Given the description of an element on the screen output the (x, y) to click on. 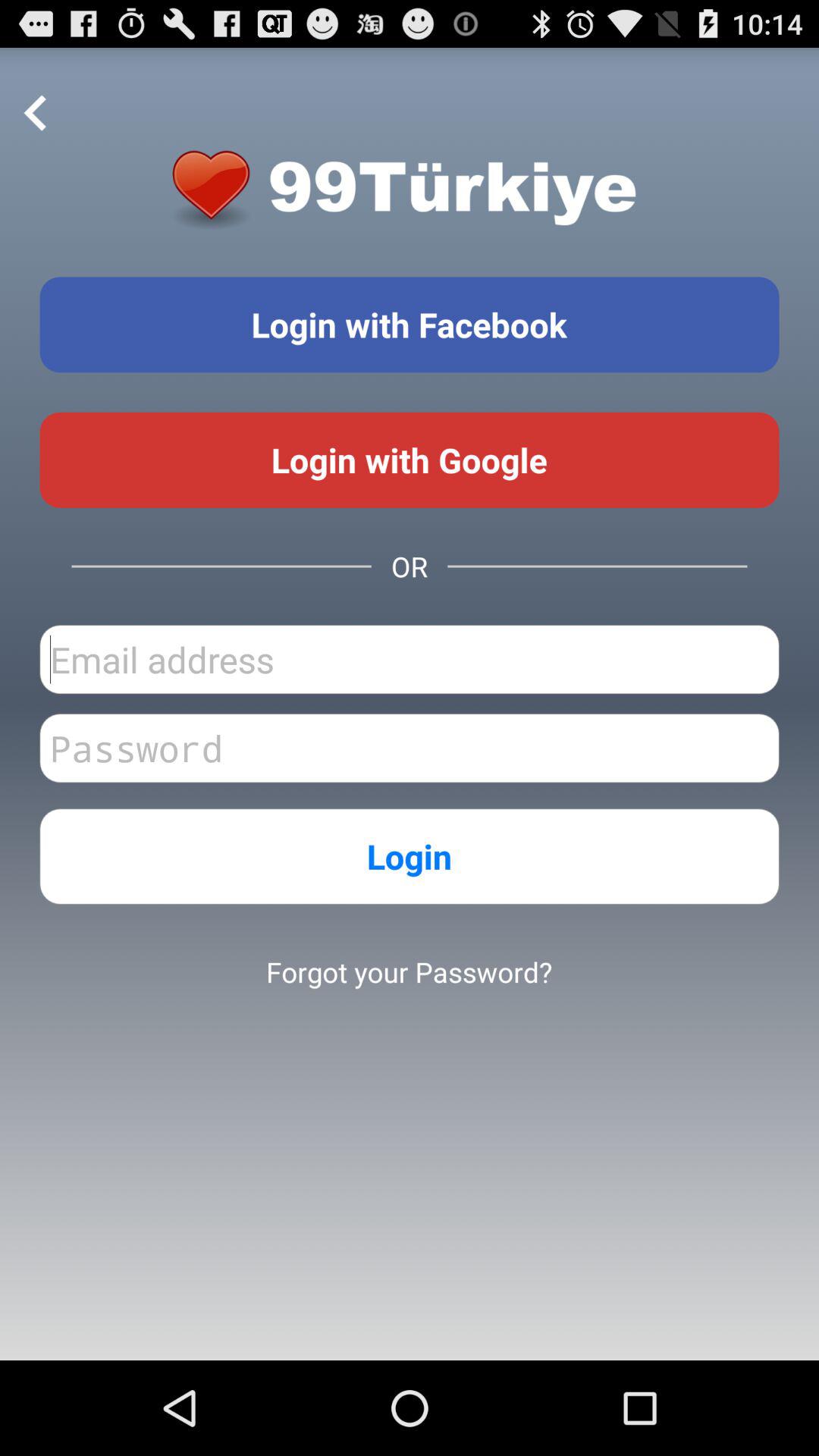
choose the item at the top left corner (35, 113)
